Given the description of an element on the screen output the (x, y) to click on. 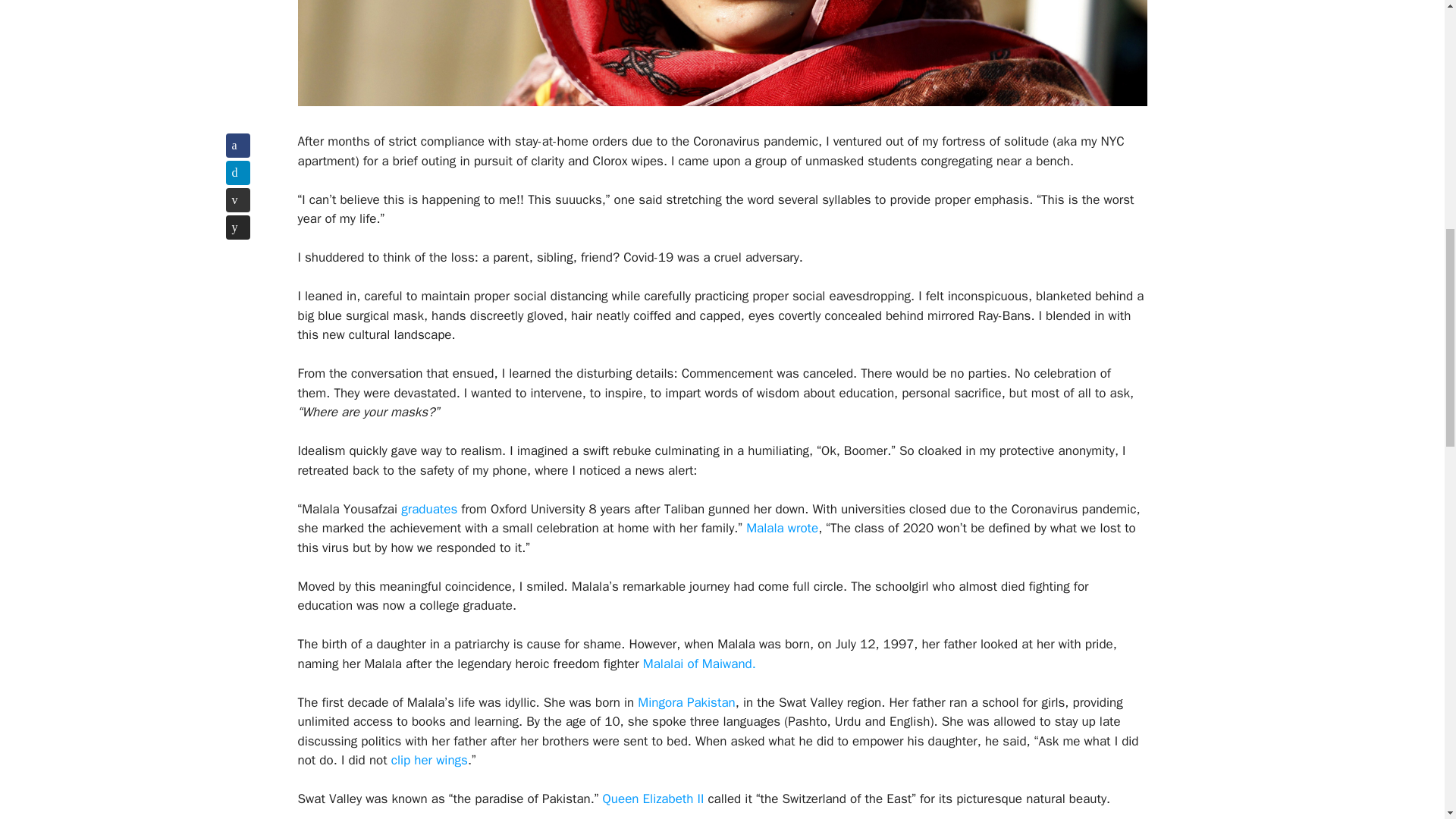
graduates (427, 508)
Mingora Pakistan (684, 702)
Share on Reddit (237, 227)
Malala wrote (780, 528)
Share on Facebook (237, 145)
Queen Elizabeth II (651, 798)
Malalai of Maiwand. (697, 663)
Share on Email (237, 200)
Share on Twitter (237, 172)
clip her wings (427, 760)
